Given the description of an element on the screen output the (x, y) to click on. 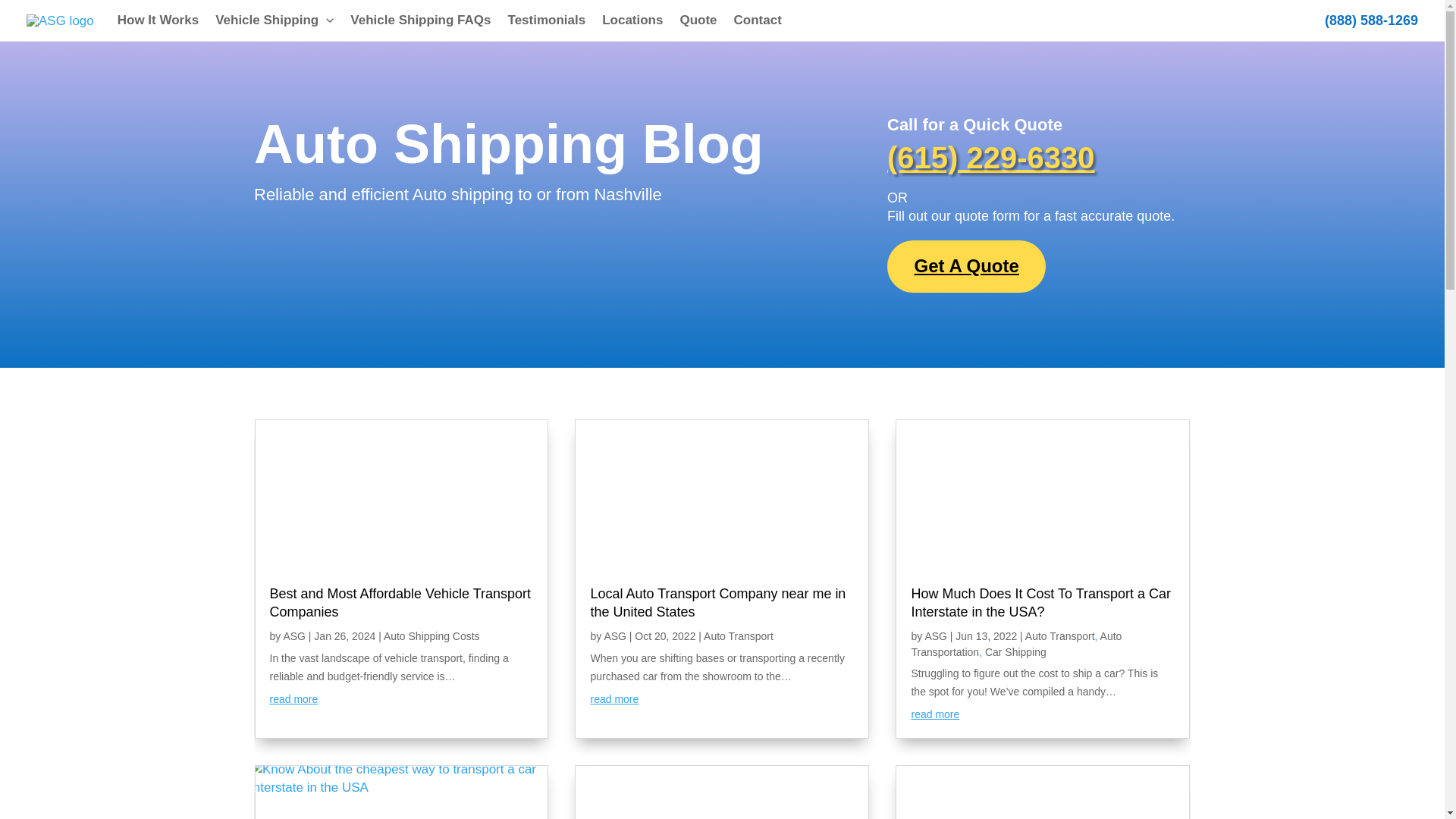
Best and Most Affordable Vehicle Transport Companies (400, 602)
Vehicle Shipping (274, 20)
View all posts by ASG (616, 635)
Contact (757, 20)
How It Works (157, 20)
Quote (698, 20)
Get A Quote (965, 266)
Locations (632, 20)
ASG (294, 635)
View all posts by ASG (294, 635)
Auto Shipping Costs (432, 635)
Vehicle Shipping FAQs (420, 20)
Testimonials (546, 20)
View all posts by ASG (936, 635)
